Given the description of an element on the screen output the (x, y) to click on. 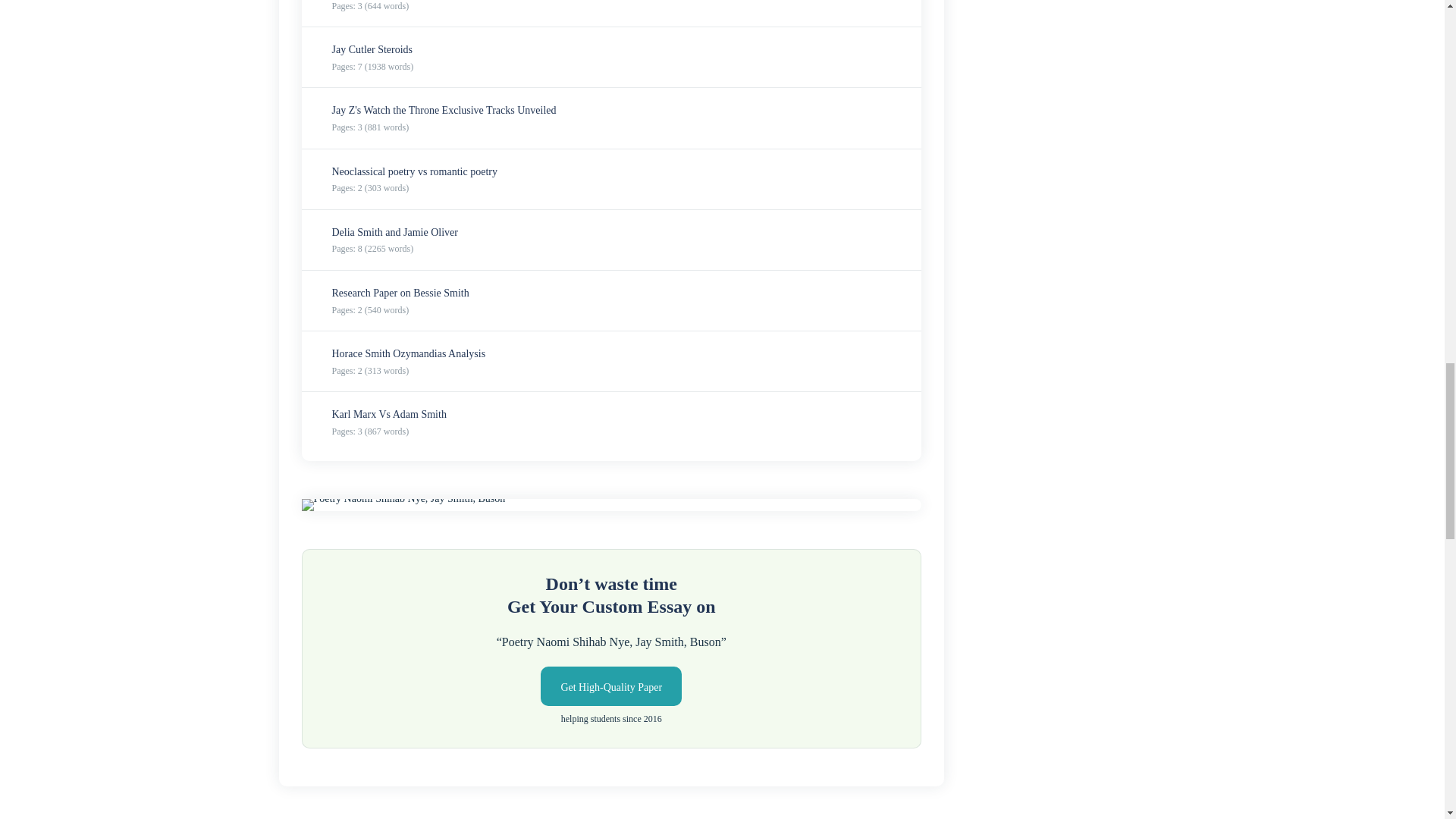
Horace Smith Ozymandias Analysis (408, 353)
Get High-Quality Paper (610, 685)
Jay Z's Watch the Throne Exclusive Tracks Unveiled (443, 110)
Jay Cutler Steroids (372, 49)
Delia Smith and Jamie Oliver (394, 232)
Neoclassical poetry vs romantic poetry (414, 171)
Research Paper on Bessie Smith (399, 292)
Karl Marx Vs Adam Smith (388, 414)
